Given the description of an element on the screen output the (x, y) to click on. 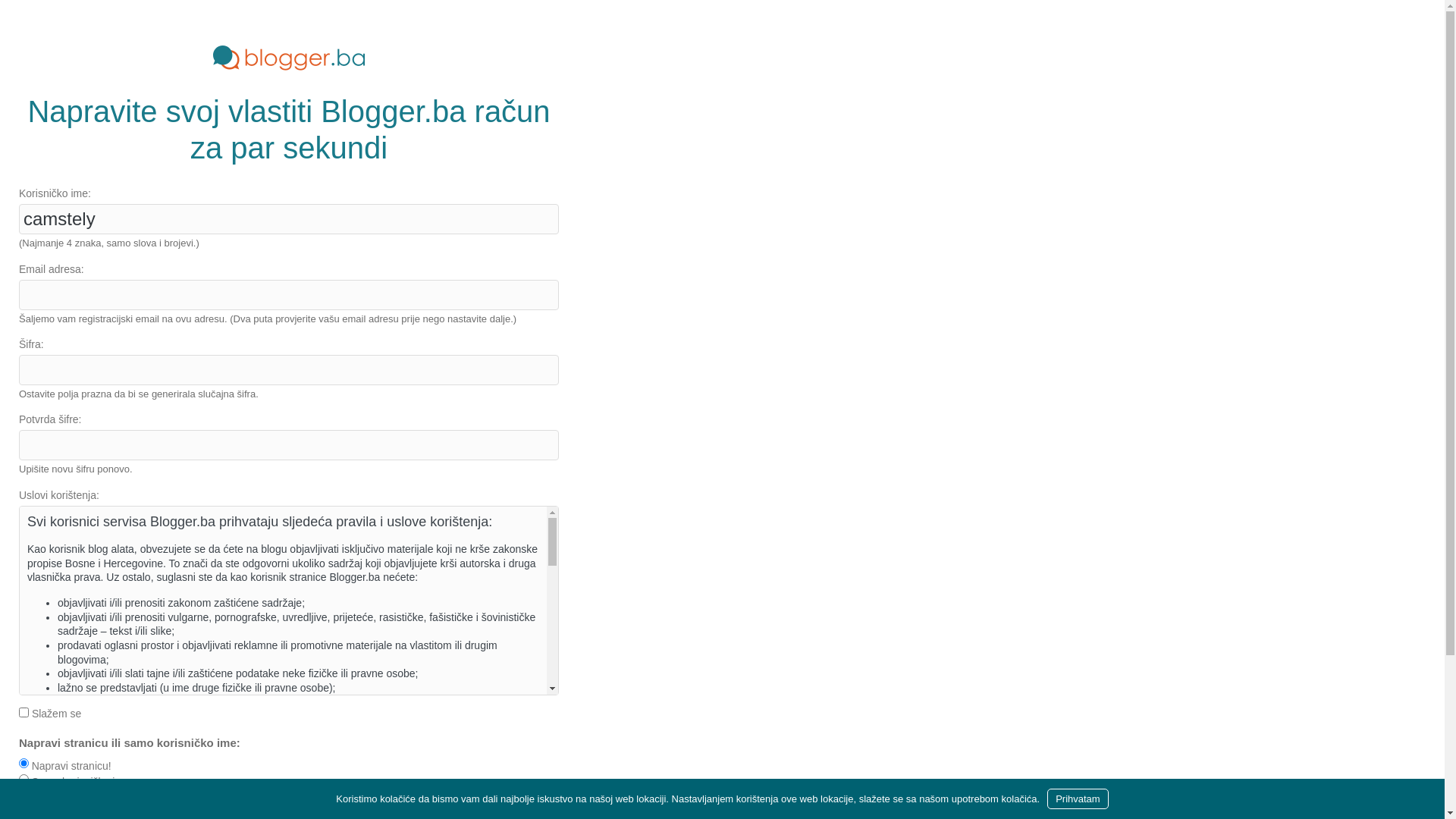
Prihvatam Element type: text (1077, 798)
